Given the description of an element on the screen output the (x, y) to click on. 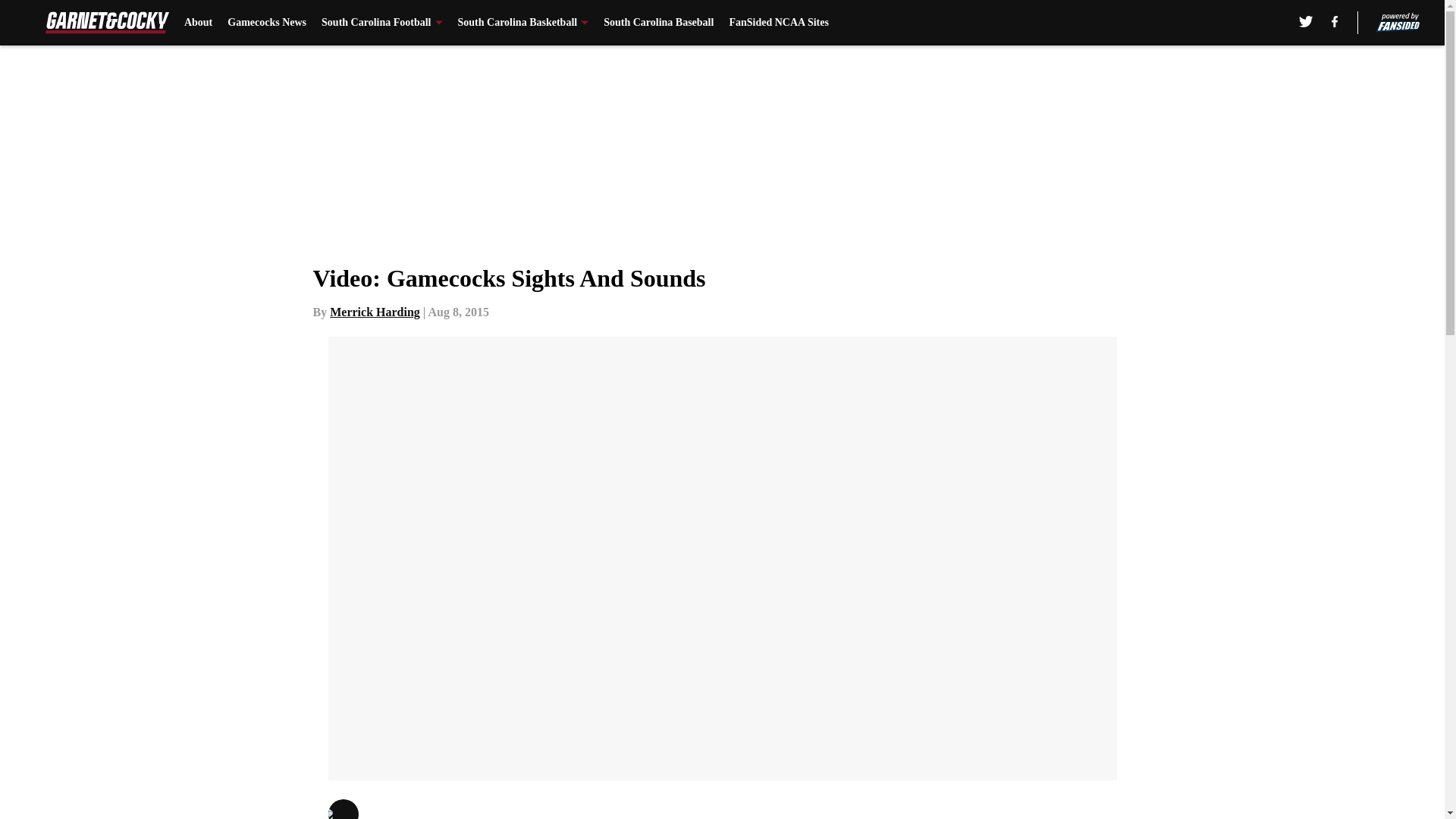
FanSided NCAA Sites (778, 22)
About (198, 22)
Gamecocks News (266, 22)
South Carolina Baseball (658, 22)
Merrick Harding (375, 311)
